Given the description of an element on the screen output the (x, y) to click on. 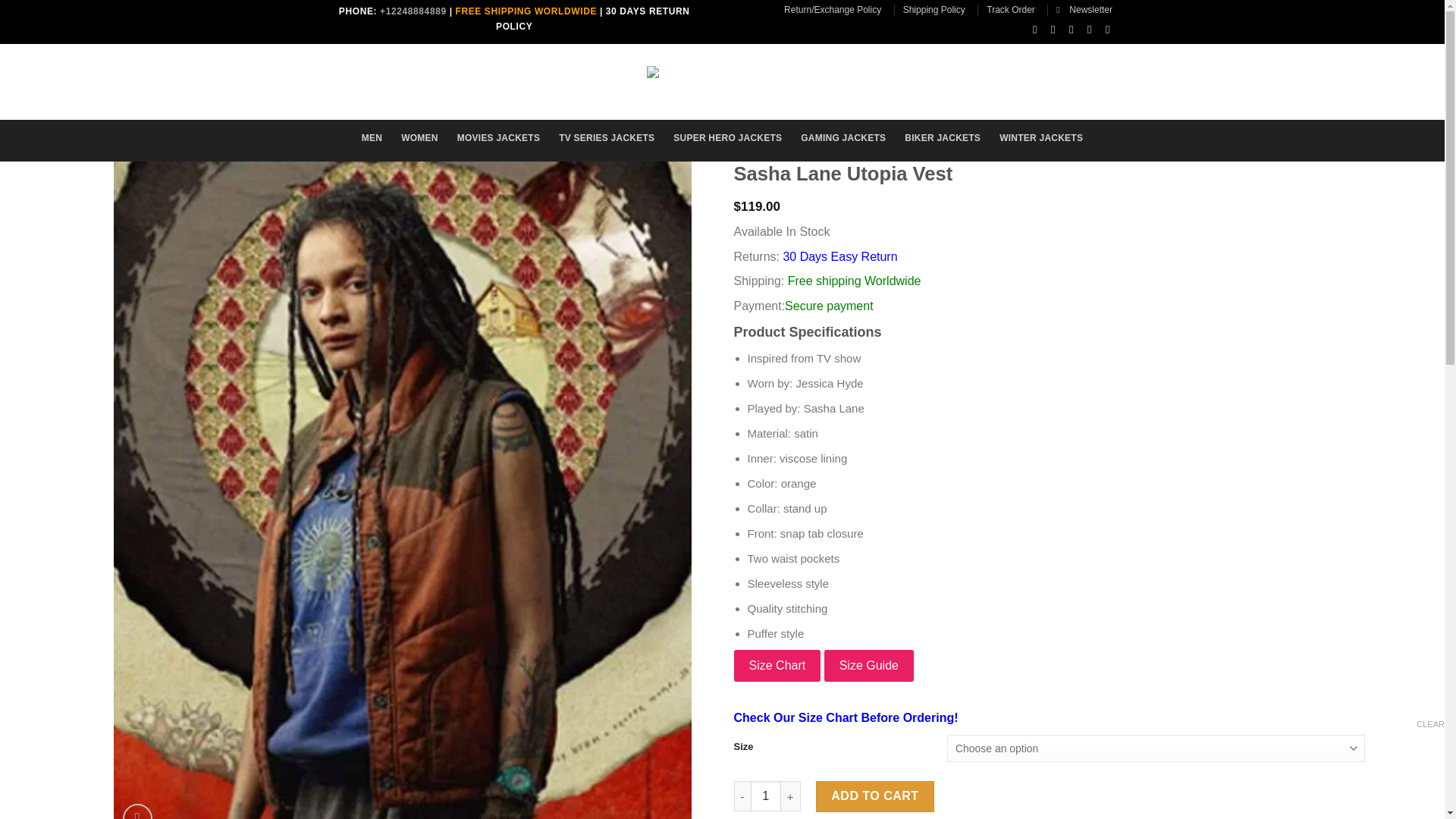
Zoom (137, 811)
Search (411, 76)
Cart (1072, 78)
Shipping Policy (933, 9)
MOVIES JACKETS (498, 137)
Size Chart (777, 665)
TV SERIES JACKETS (606, 137)
SUPER HERO JACKETS (726, 137)
GAMING JACKETS (842, 137)
Qty (765, 796)
